Given the description of an element on the screen output the (x, y) to click on. 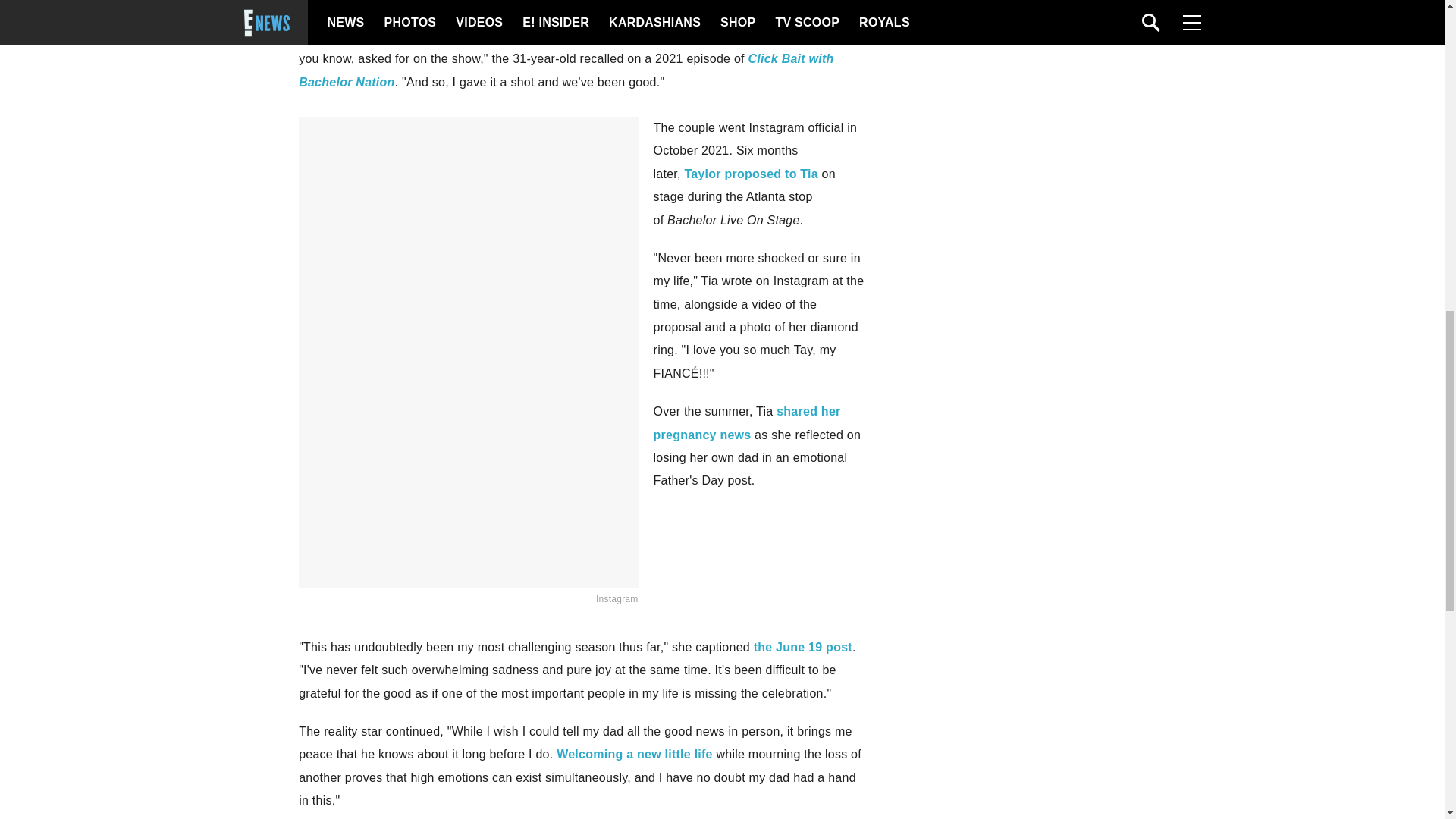
Click Bait with Bachelor Nation (565, 69)
Welcoming a new little life (634, 753)
shared her pregnancy news (747, 422)
Taylor proposed to Tia (750, 173)
the June 19 post (802, 646)
